Given the description of an element on the screen output the (x, y) to click on. 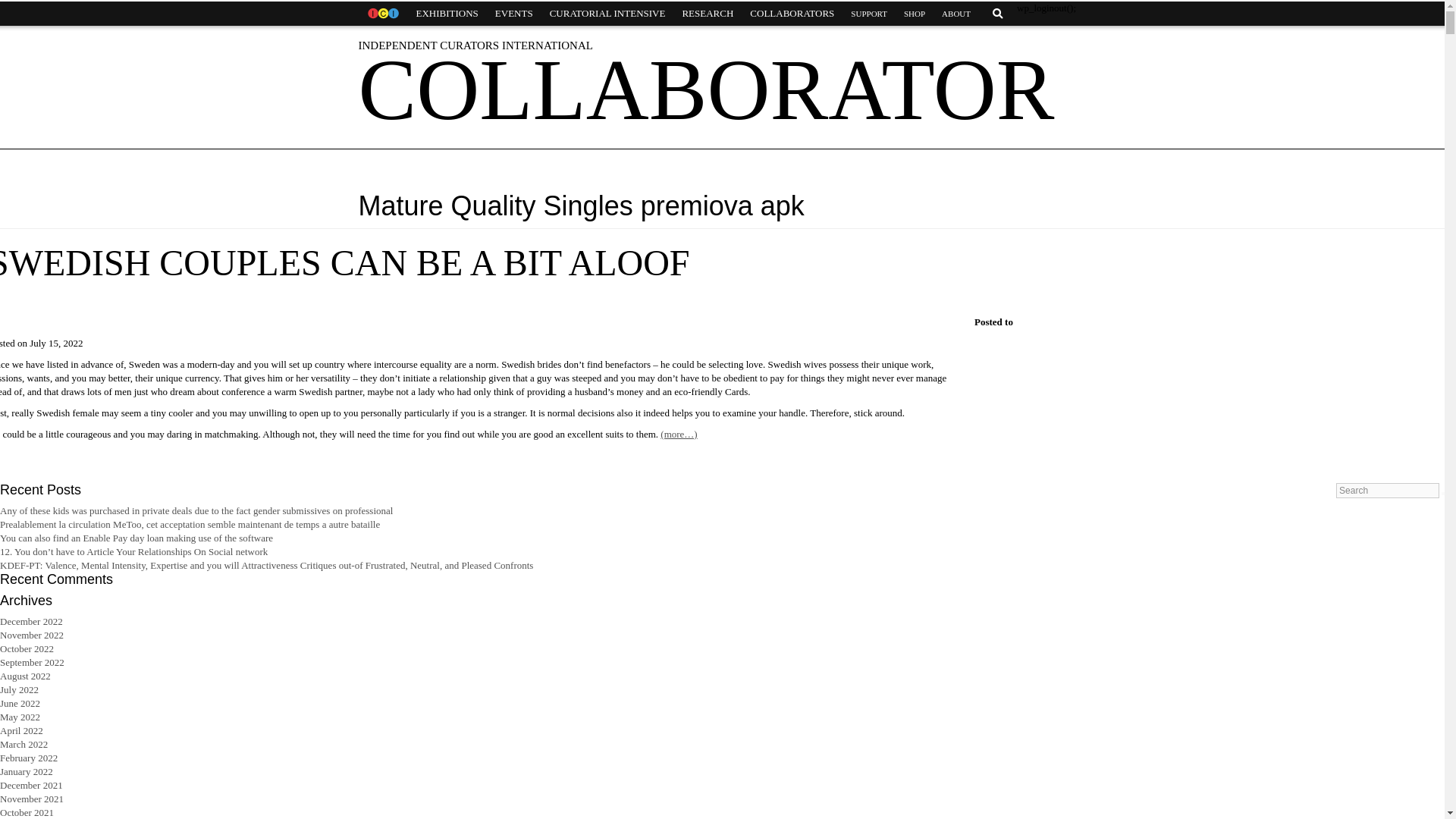
EVENTS (513, 13)
COLLABORATORS (792, 13)
RESEARCH (706, 13)
CURATORIAL INTENSIVE (607, 13)
HOME (382, 13)
EXHIBITIONS (446, 13)
